Given the description of an element on the screen output the (x, y) to click on. 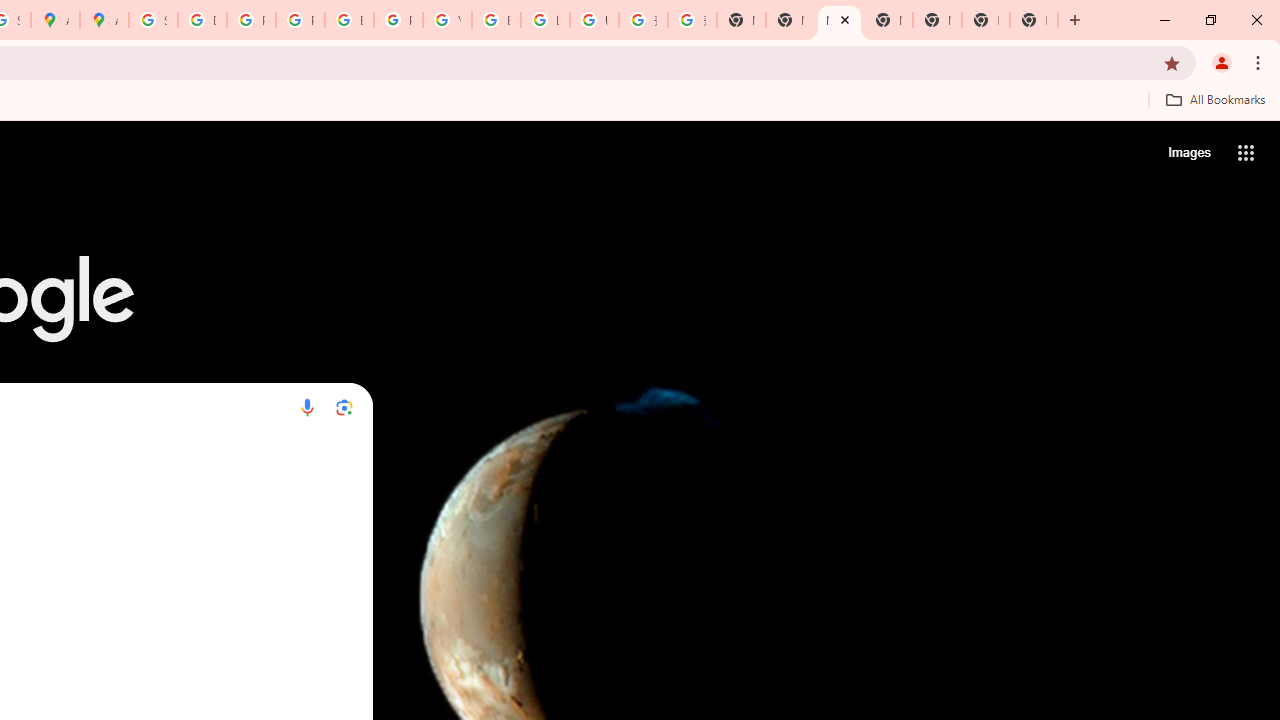
Sign in - Google Accounts (153, 20)
Privacy Help Center - Policies Help (300, 20)
Search by image (344, 407)
Privacy Help Center - Policies Help (251, 20)
New Tab (888, 20)
